Given the description of an element on the screen output the (x, y) to click on. 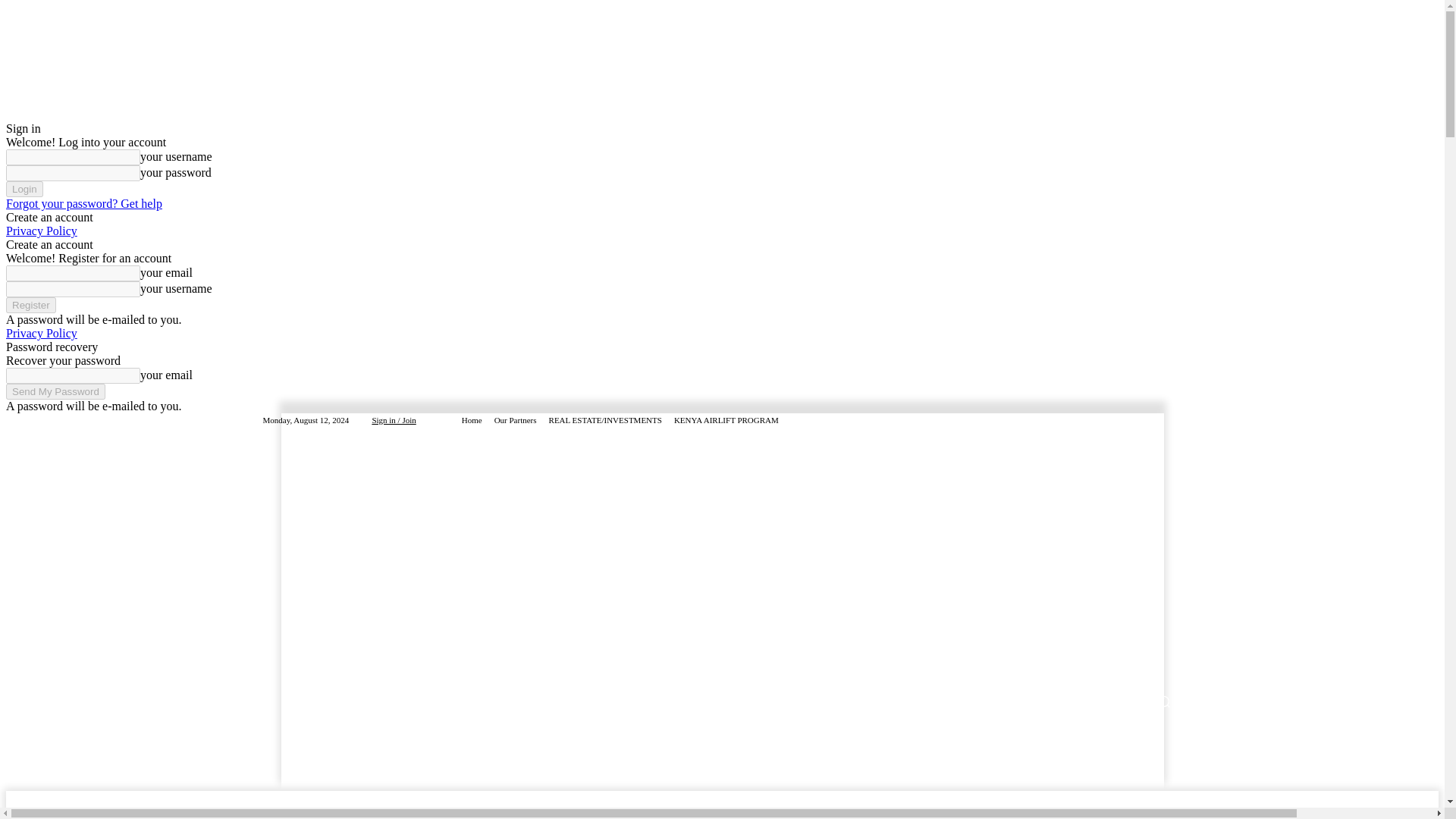
Create an account (49, 216)
KENYA AIRLIFT PROGRAM (726, 420)
Privacy Policy (41, 230)
KENYA NEWS (374, 700)
NEWS (308, 700)
Home (471, 420)
Our Partners (516, 420)
Privacy Policy (41, 332)
Forgot your password? Get help (83, 203)
Login (24, 188)
